Given the description of an element on the screen output the (x, y) to click on. 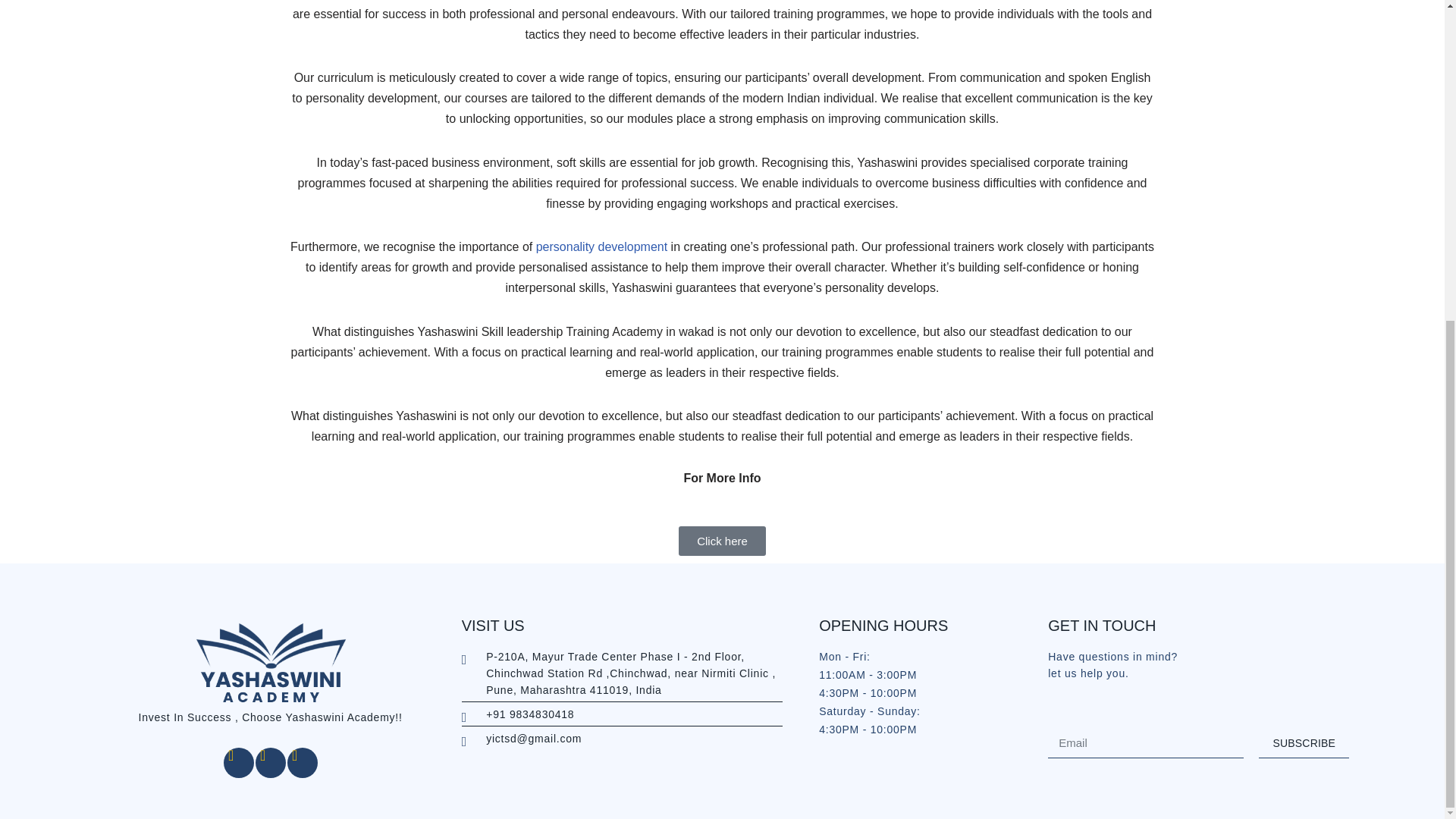
Click here (721, 541)
personality development (603, 246)
SUBSCRIBE (1304, 743)
